Given the description of an element on the screen output the (x, y) to click on. 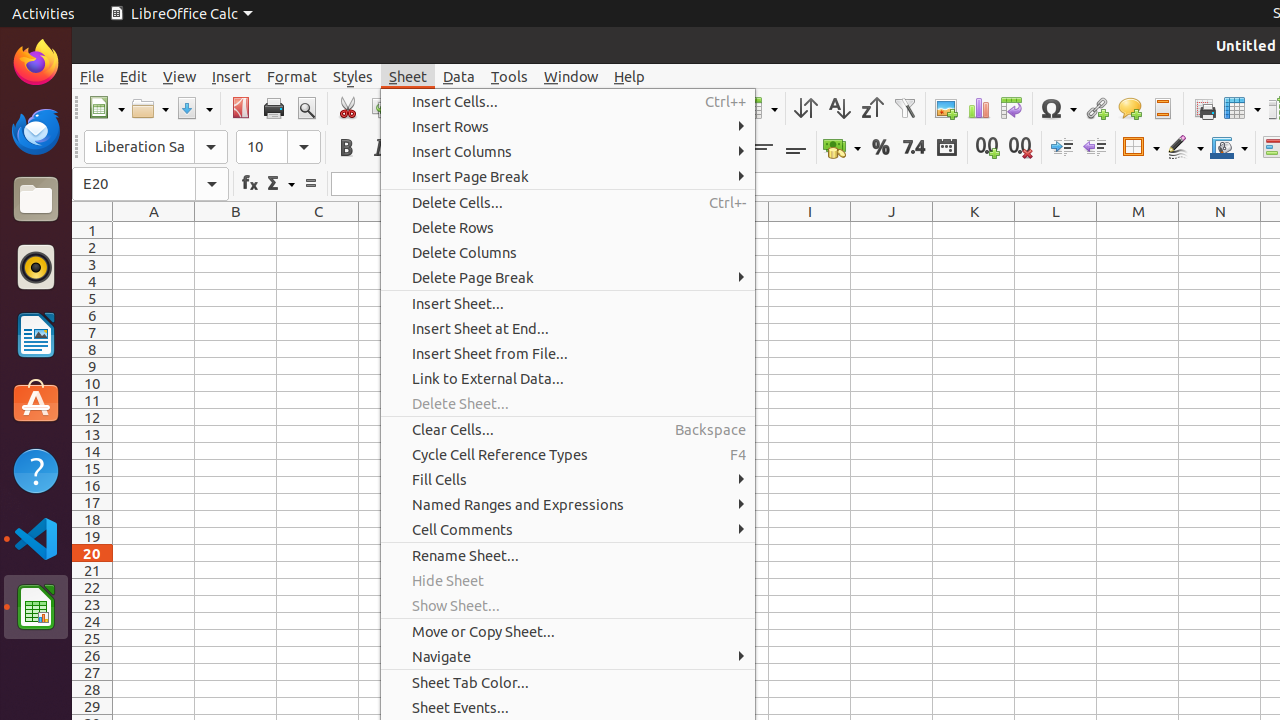
Cycle Cell Reference Types Element type: menu-item (568, 454)
Delete Rows Element type: menu-item (568, 227)
Open Element type: push-button (150, 108)
Visual Studio Code Element type: push-button (36, 538)
Font Size Element type: combo-box (278, 147)
